Given the description of an element on the screen output the (x, y) to click on. 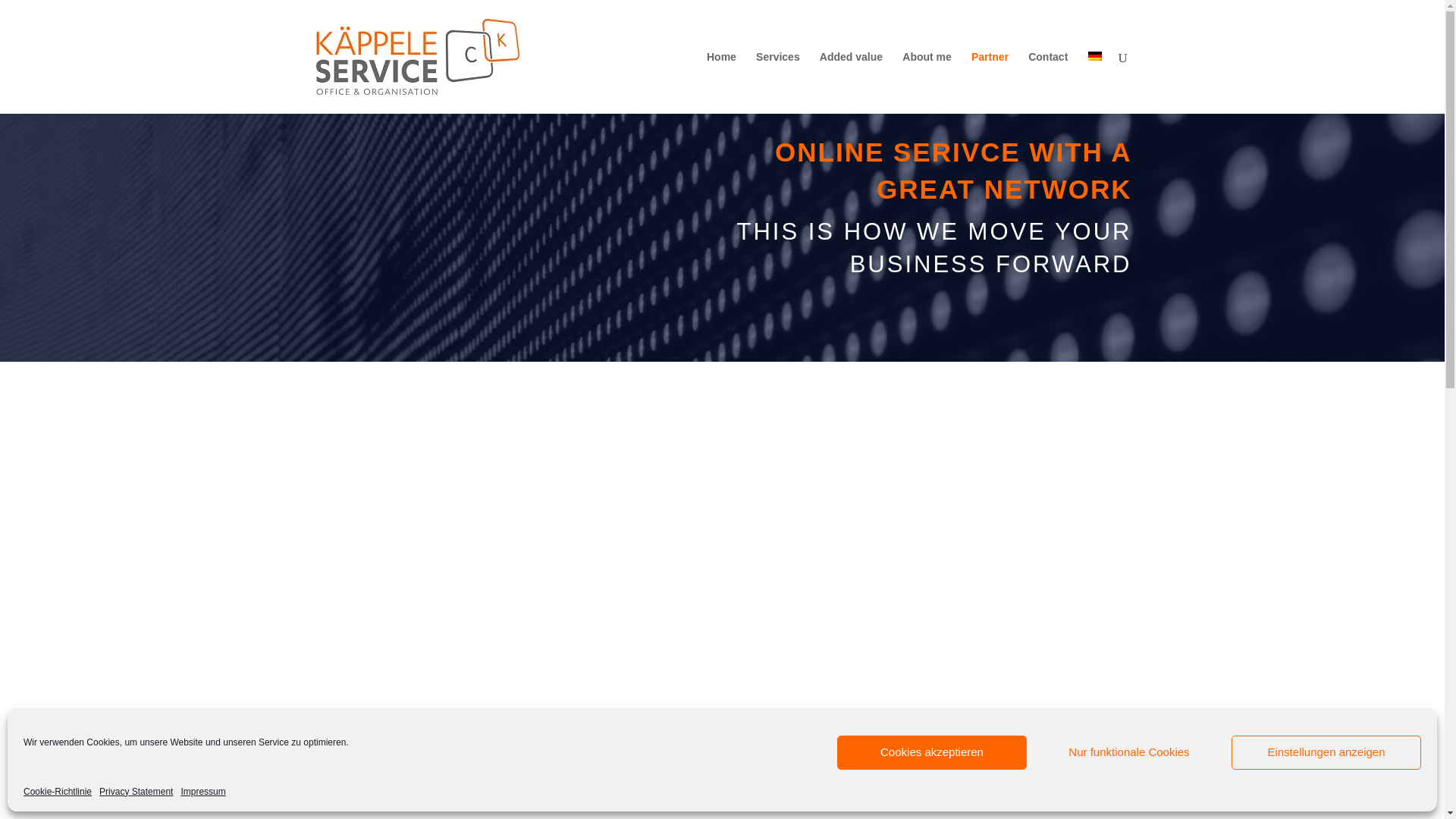
Cookie-Richtlinie (57, 791)
Added value (850, 82)
Einstellungen anzeigen (1326, 752)
Cookies akzeptieren (931, 752)
Nur funktionale Cookies (1128, 752)
Privacy Statement (136, 791)
Impressum (202, 791)
